Given the description of an element on the screen output the (x, y) to click on. 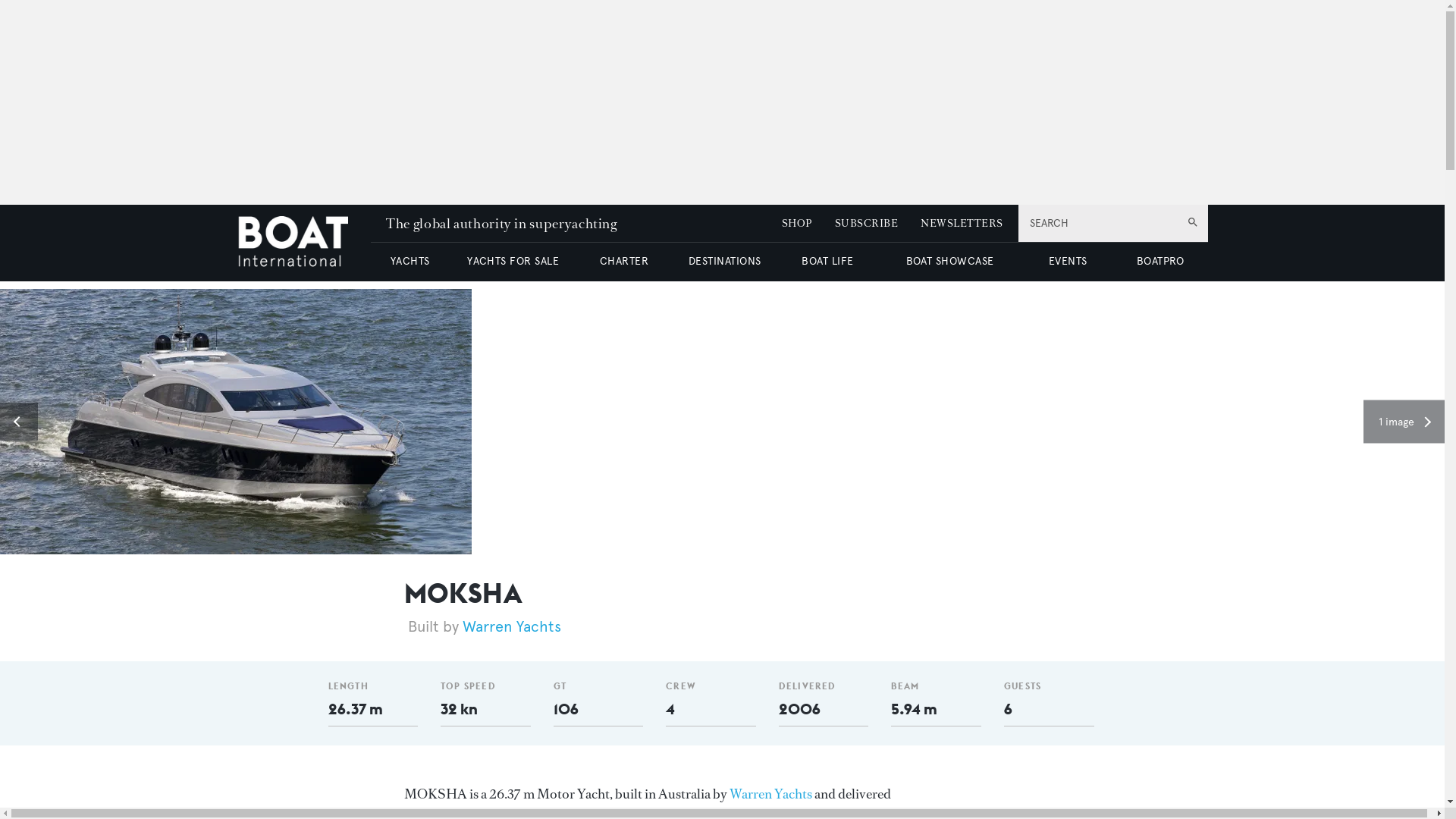
YACHTS (410, 261)
YACHTS FOR SALE (512, 261)
DESTINATIONS (724, 261)
SHOP (796, 223)
NEWSLETTERS (961, 223)
SUBSCRIBE (866, 223)
CHARTER (623, 261)
